Given the description of an element on the screen output the (x, y) to click on. 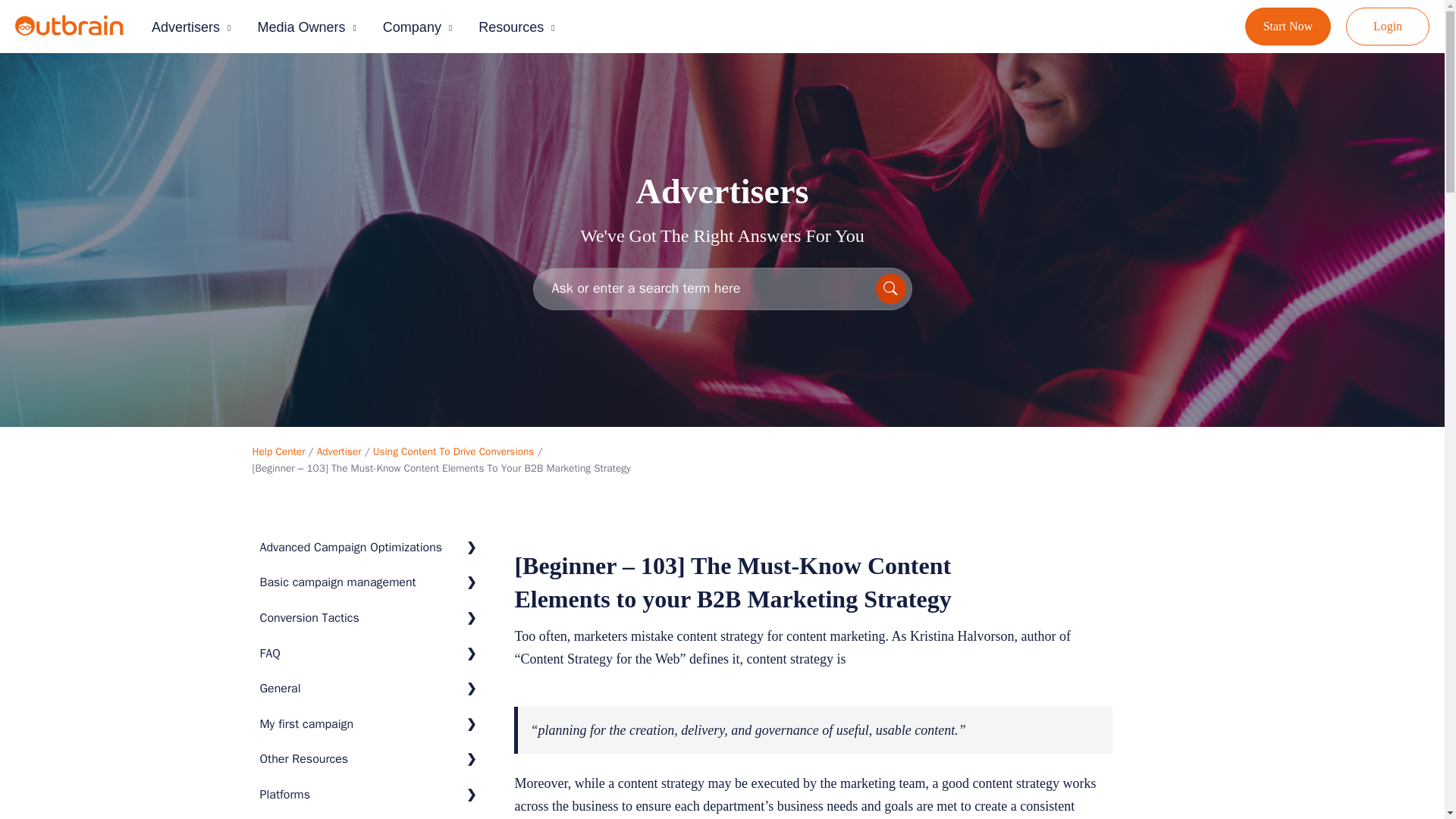
Advertisers (194, 26)
Outbrain logo - link to homepage (86, 31)
Login (1387, 26)
Outbrain logo - link to homepage (68, 25)
Media Owners (309, 26)
Using Content To Drive Conversions (453, 451)
Resources (520, 26)
Company (421, 26)
Start Now (1287, 26)
Advertiser (339, 451)
Help Center (277, 451)
Outbrain (86, 31)
